Given the description of an element on the screen output the (x, y) to click on. 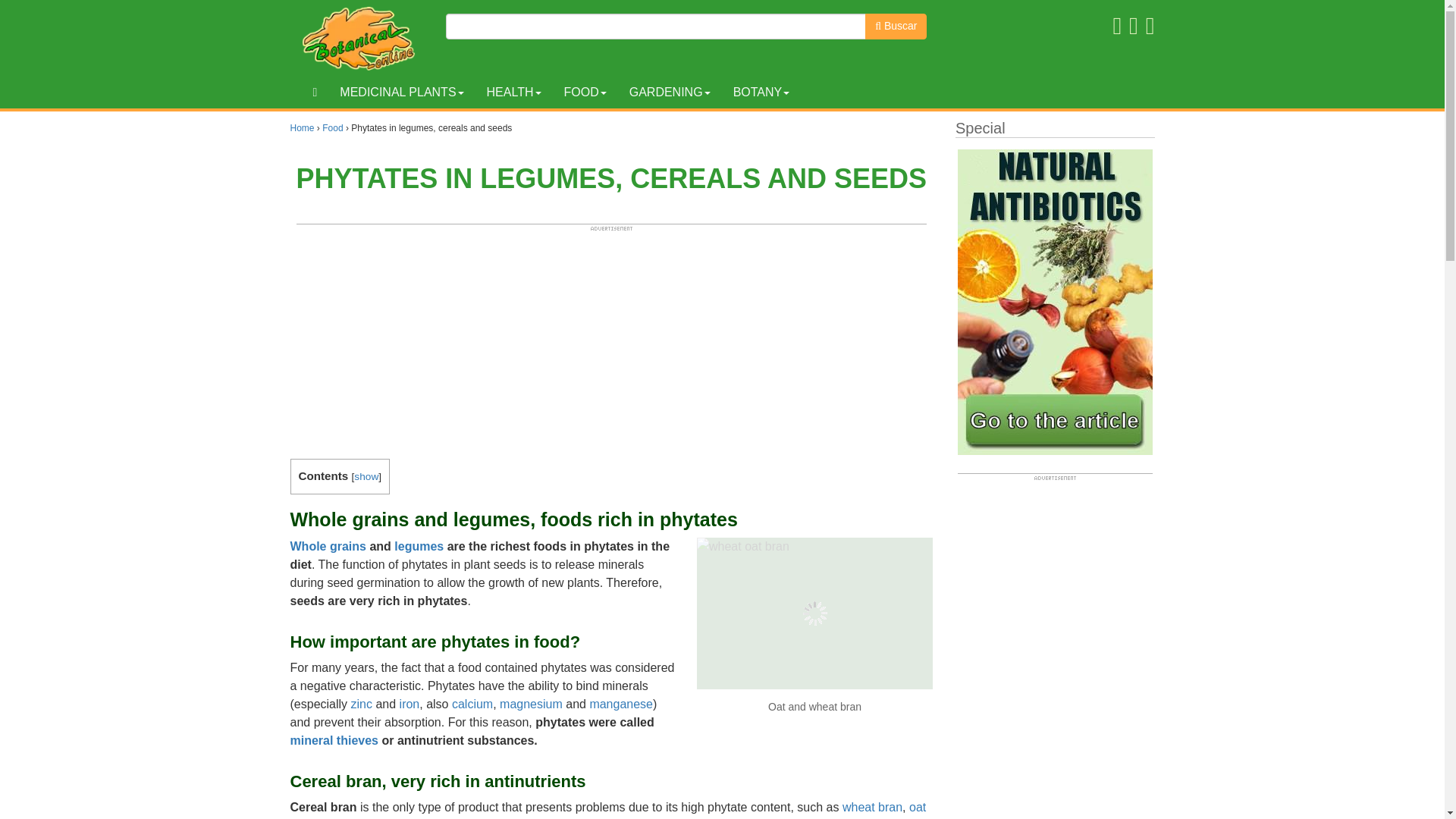
HEALTH (514, 92)
Buscar (895, 26)
Advertisement (611, 337)
MEDICINAL PLANTS (401, 92)
FOOD (584, 92)
GARDENING (669, 92)
Botanical-Online (362, 37)
